Given the description of an element on the screen output the (x, y) to click on. 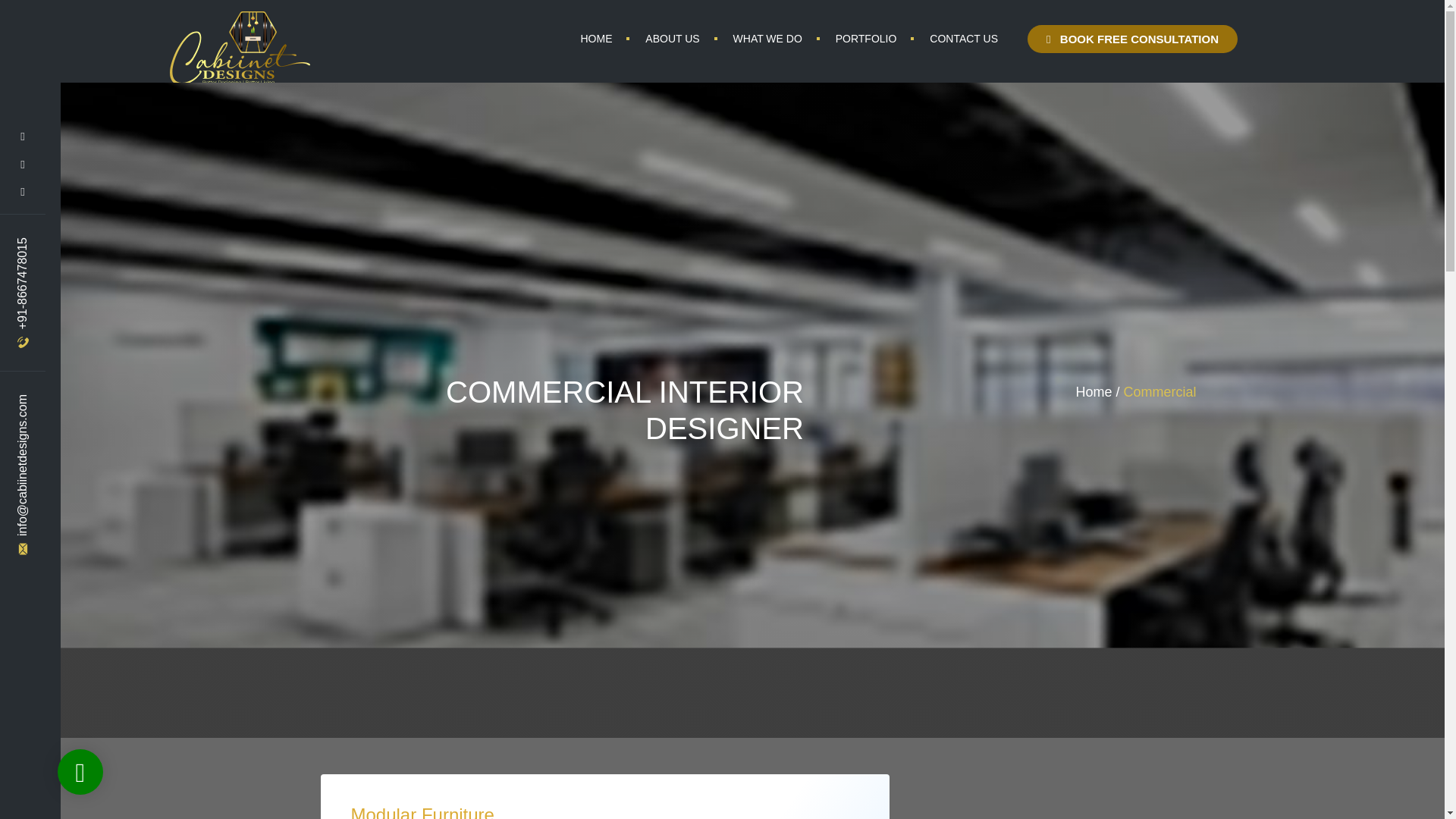
CONTACT US (963, 38)
PORTFOLIO (865, 38)
WHAT WE DO (767, 38)
HOME (595, 38)
ABOUT US (671, 38)
Whatsapp (80, 771)
  BOOK FREE CONSULTATION (1132, 39)
